Given the description of an element on the screen output the (x, y) to click on. 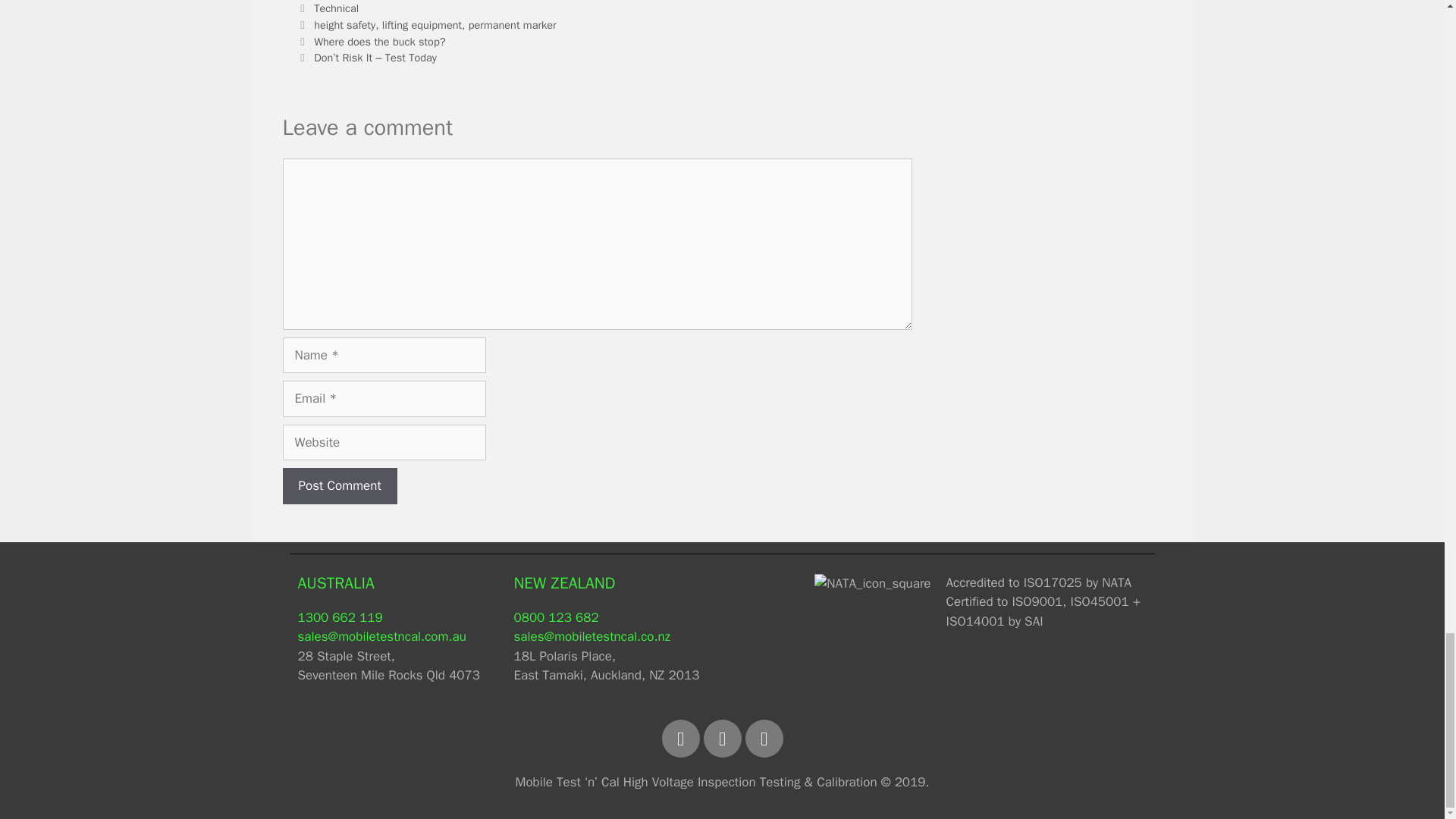
Post Comment (339, 485)
